Given the description of an element on the screen output the (x, y) to click on. 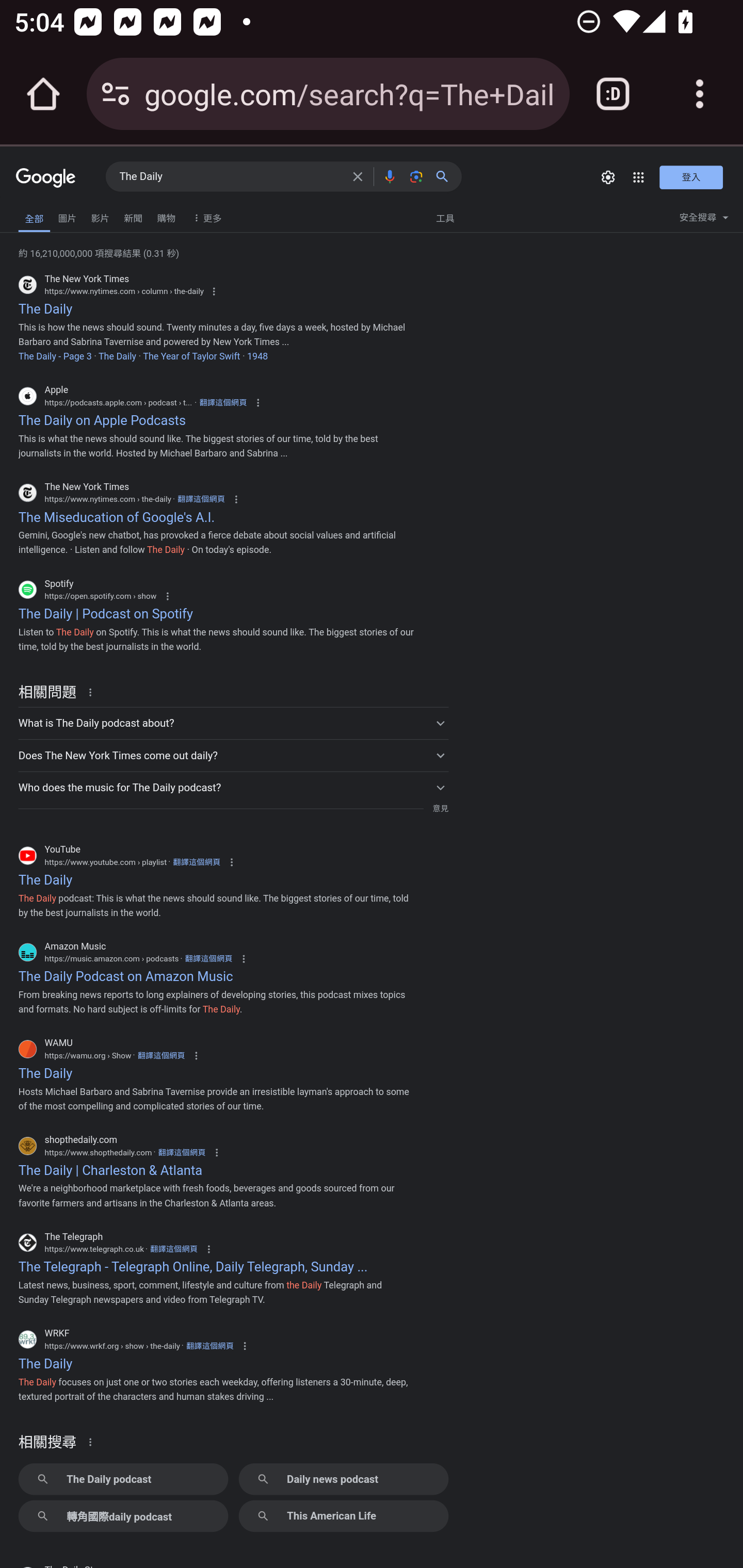
Open the home page (43, 93)
Connection is secure (115, 93)
Switch or close tabs (612, 93)
Customize and control Google Chrome (699, 93)
 清除 (357, 176)
語音搜尋 (389, 176)
以圖搜尋 (415, 176)
搜尋  (446, 176)
設定 (608, 176)
Google 應用程式 (638, 176)
登入 (690, 176)
Google (45, 178)
The Daily (229, 177)
無障礙功能意見 (42, 212)
圖片 (67, 216)
影片 (99, 216)
新聞 (133, 216)
購物 (166, 216)
更多 (205, 216)
安全搜尋 (703, 219)
工具 (444, 216)
The Daily - Page 3 (54, 356)
The Daily (116, 356)
The Year of Taylor Swift (191, 356)
1948 (257, 356)
翻譯這個網頁 (223, 402)
翻譯這個網頁 (200, 498)
關於此結果 (93, 692)
What is The Daily podcast about? (232, 723)
Does The New York Times come out daily? (232, 754)
Who does the music for The Daily podcast? (232, 786)
意見 (439, 807)
翻譯這個網頁 (196, 862)
翻譯這個網頁 (208, 958)
翻譯這個網頁 (160, 1054)
翻譯這個網頁 (181, 1152)
翻譯這個網頁 (173, 1248)
翻譯這個網頁 (209, 1345)
關於此結果 (93, 1441)
The Daily podcast (122, 1478)
Daily news podcast (343, 1478)
轉角國際daily podcast (122, 1515)
This American Life (343, 1515)
